Given the description of an element on the screen output the (x, y) to click on. 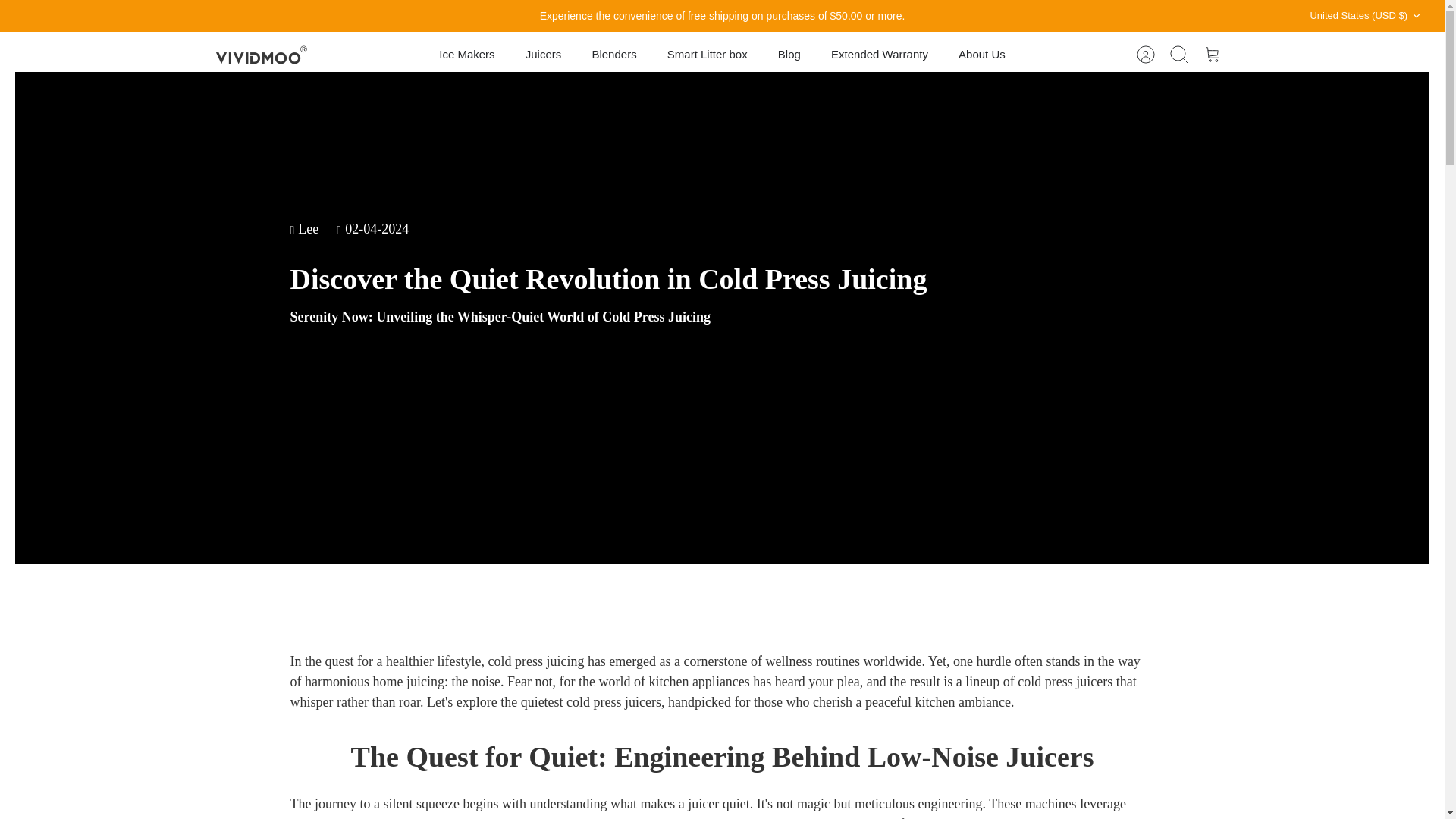
Juicers (543, 54)
Ice Makers (466, 54)
VIVIDMOO (260, 54)
